Given the description of an element on the screen output the (x, y) to click on. 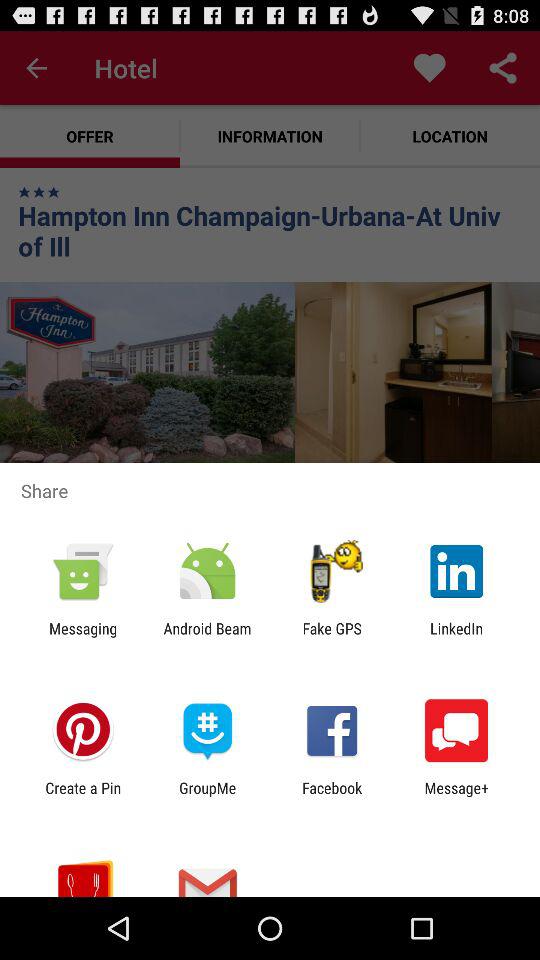
flip until message+ icon (456, 796)
